Given the description of an element on the screen output the (x, y) to click on. 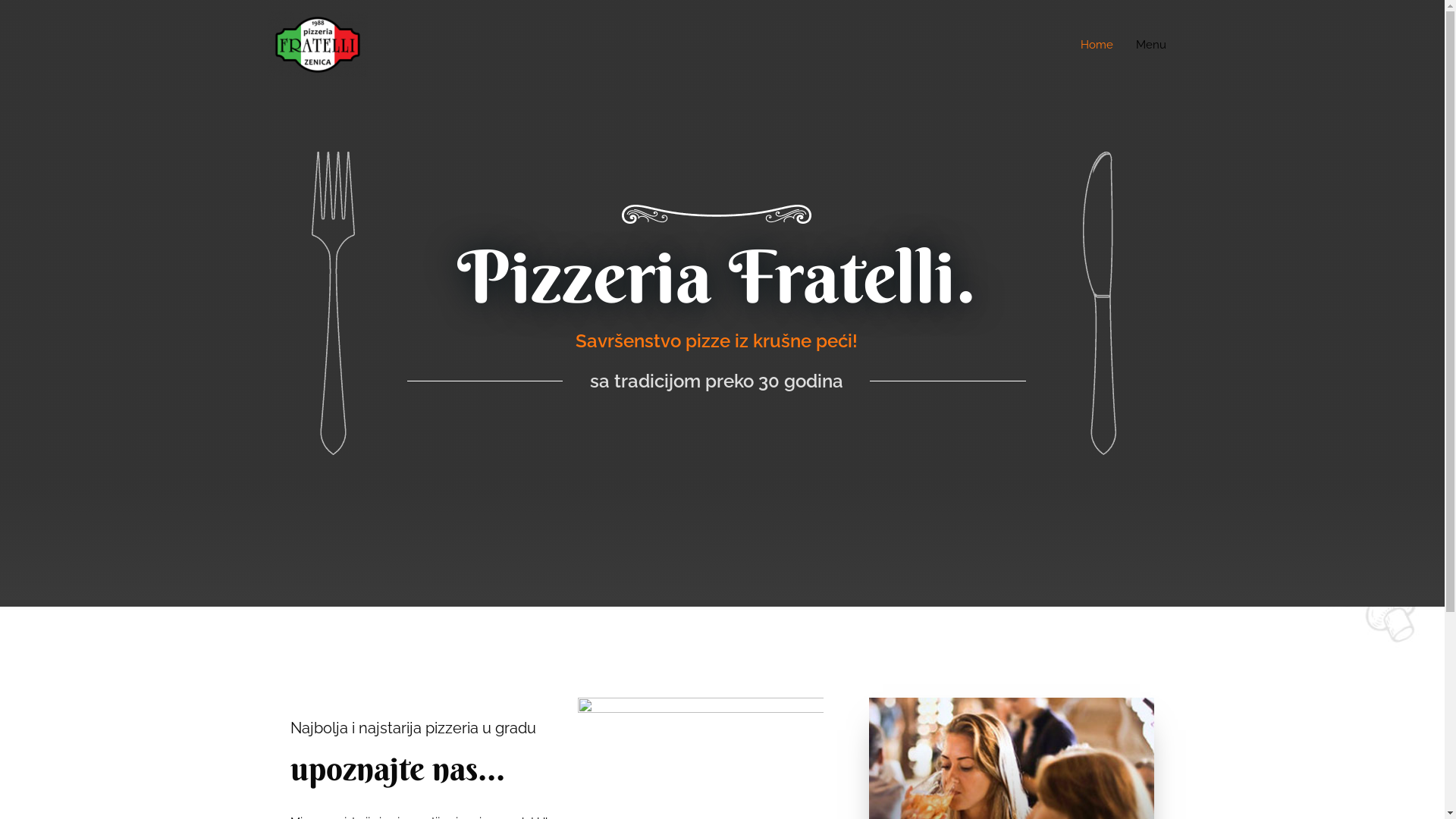
Menu Element type: text (1149, 44)
Home Element type: text (1096, 44)
